Given the description of an element on the screen output the (x, y) to click on. 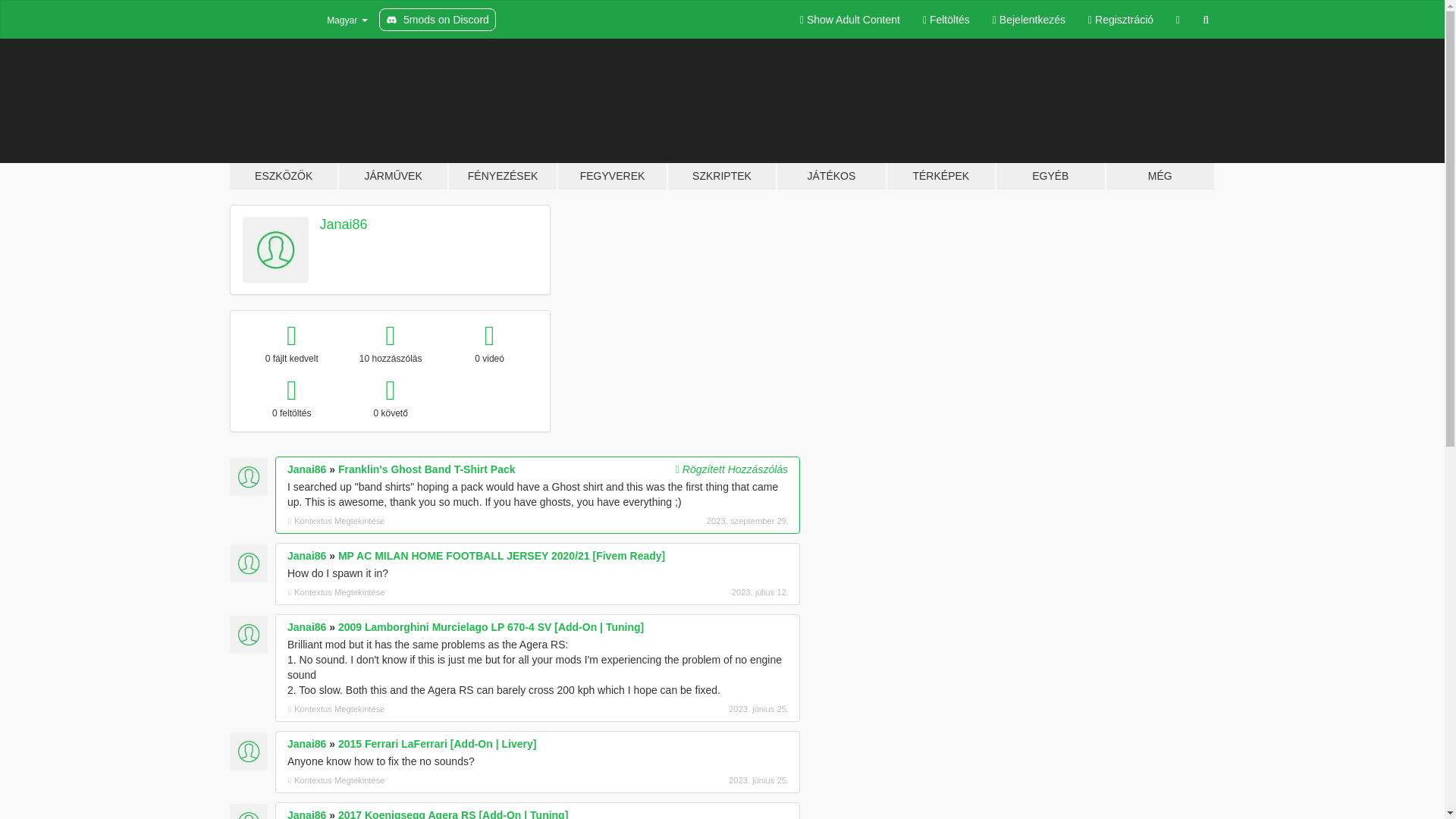
5mods on Discord (437, 19)
Show Adult Content (850, 19)
  Magyar (337, 19)
2023. szept. 29., 07:30 (708, 520)
Light mode (850, 19)
